Given the description of an element on the screen output the (x, y) to click on. 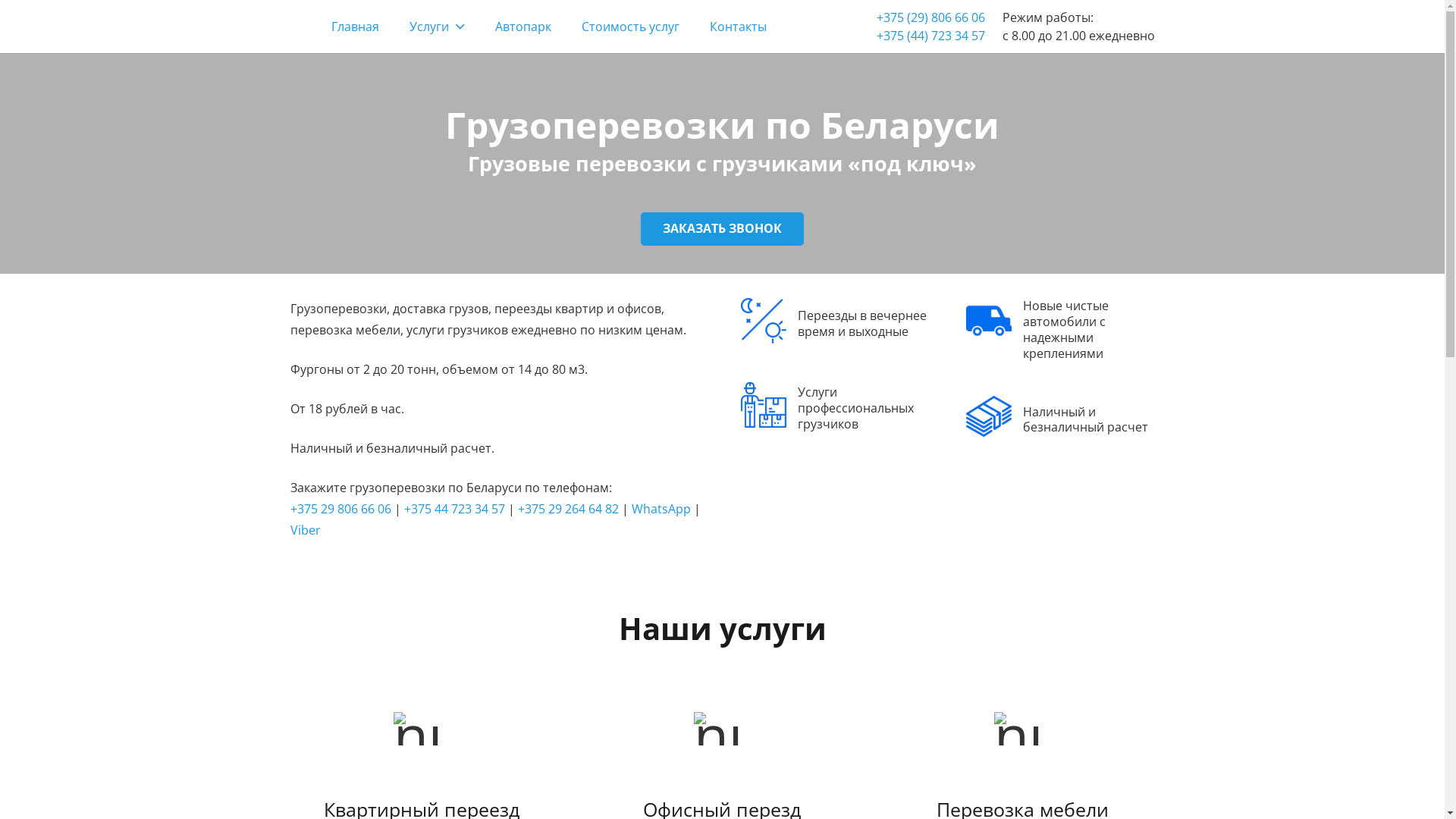
+375 29 264 64 82 Element type: text (567, 508)
+375 29 806 66 06 Element type: text (339, 508)
Viber Element type: text (304, 529)
+375 (44) 723 34 57 Element type: text (930, 35)
WhatsApp Element type: text (660, 508)
+375 (29) 806 66 06 Element type: text (930, 17)
+375 44 723 34 57 Element type: text (453, 508)
